Given the description of an element on the screen output the (x, y) to click on. 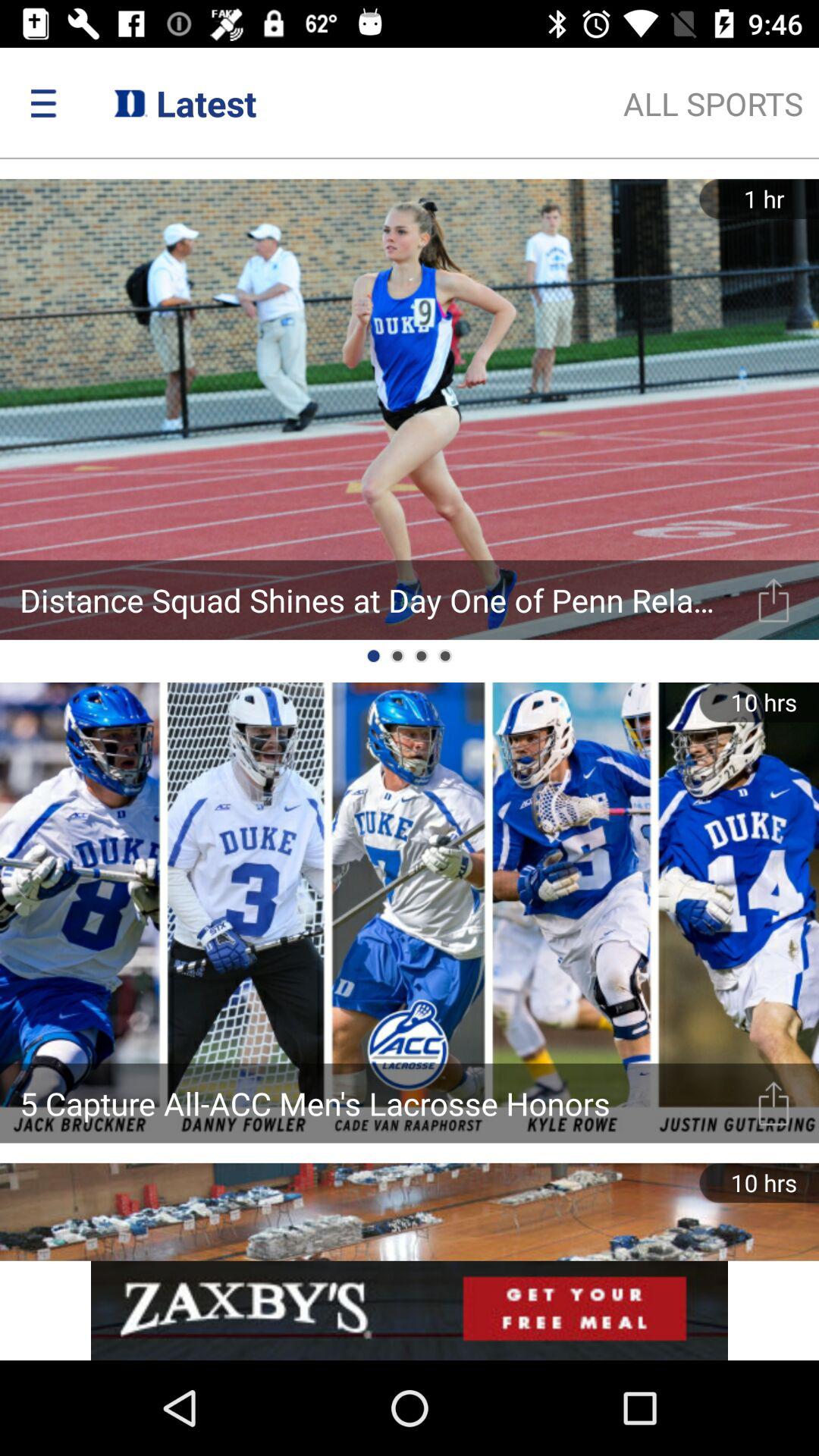
go to advertisements website (409, 1310)
